Given the description of an element on the screen output the (x, y) to click on. 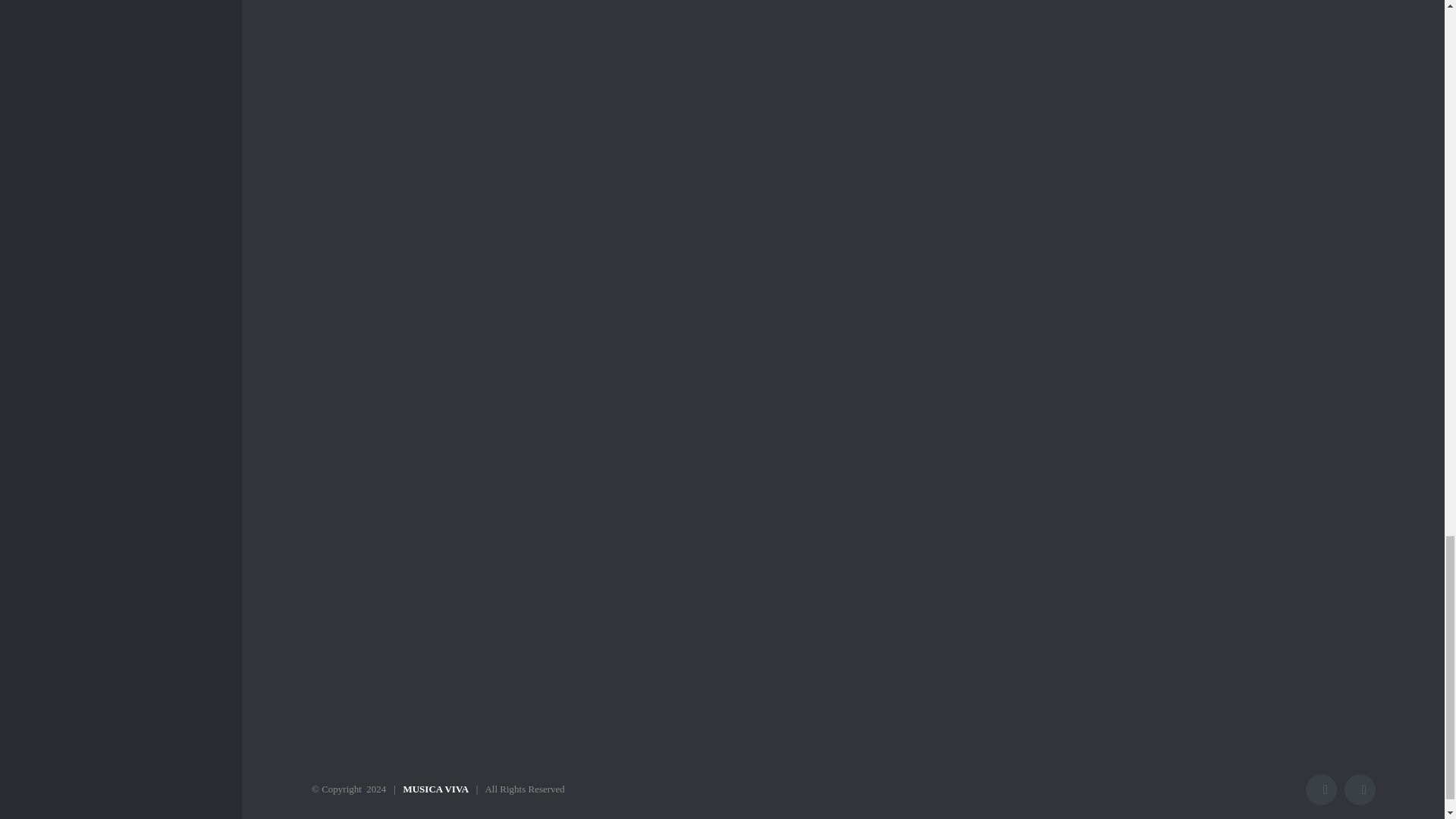
Vimeo (1359, 789)
Facebook (1321, 789)
Vimeo (1359, 789)
Facebook (1321, 789)
